Given the description of an element on the screen output the (x, y) to click on. 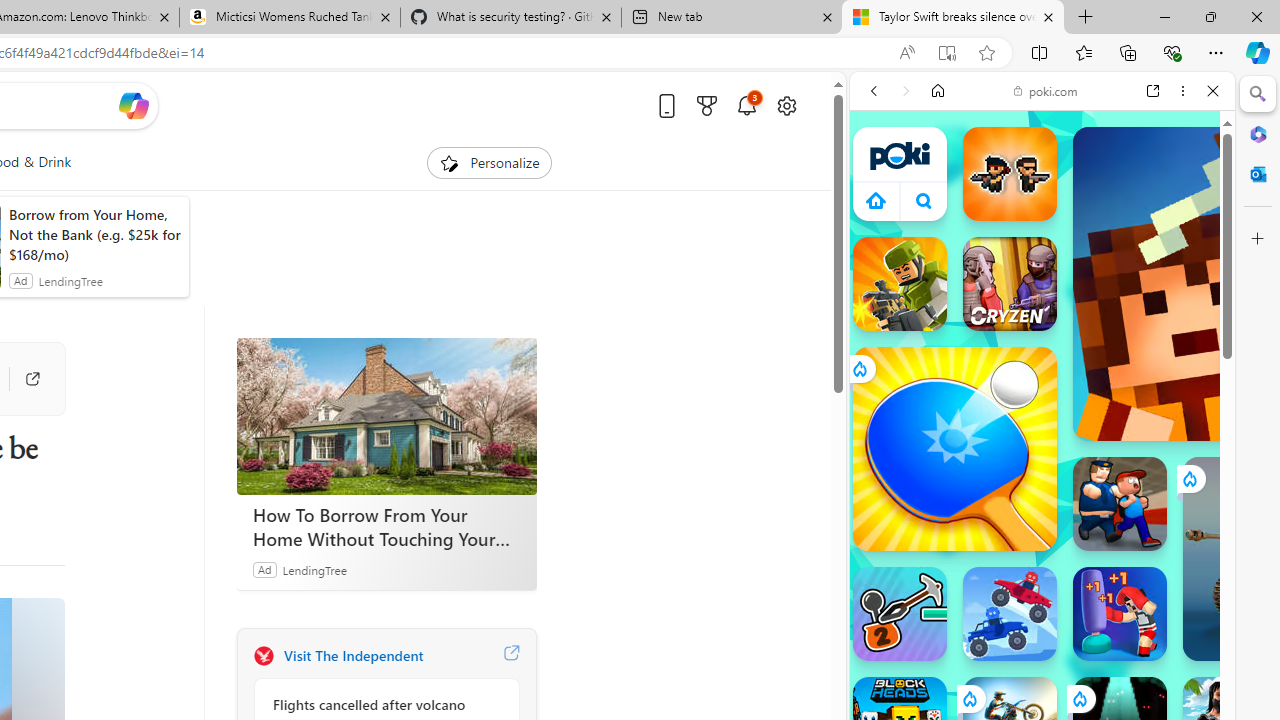
Show More Car Games (1164, 472)
Poki - Free Online Games - Play Now! (1034, 309)
Borrow from Your Home, Not the Bank (e.g. $25k for $168/mo) (93, 234)
Show More Two Player Games (1164, 570)
Io Games (1042, 617)
Escape From School (1119, 503)
Ping Pong Go! (954, 448)
Sports Games (1042, 665)
